Given the description of an element on the screen output the (x, y) to click on. 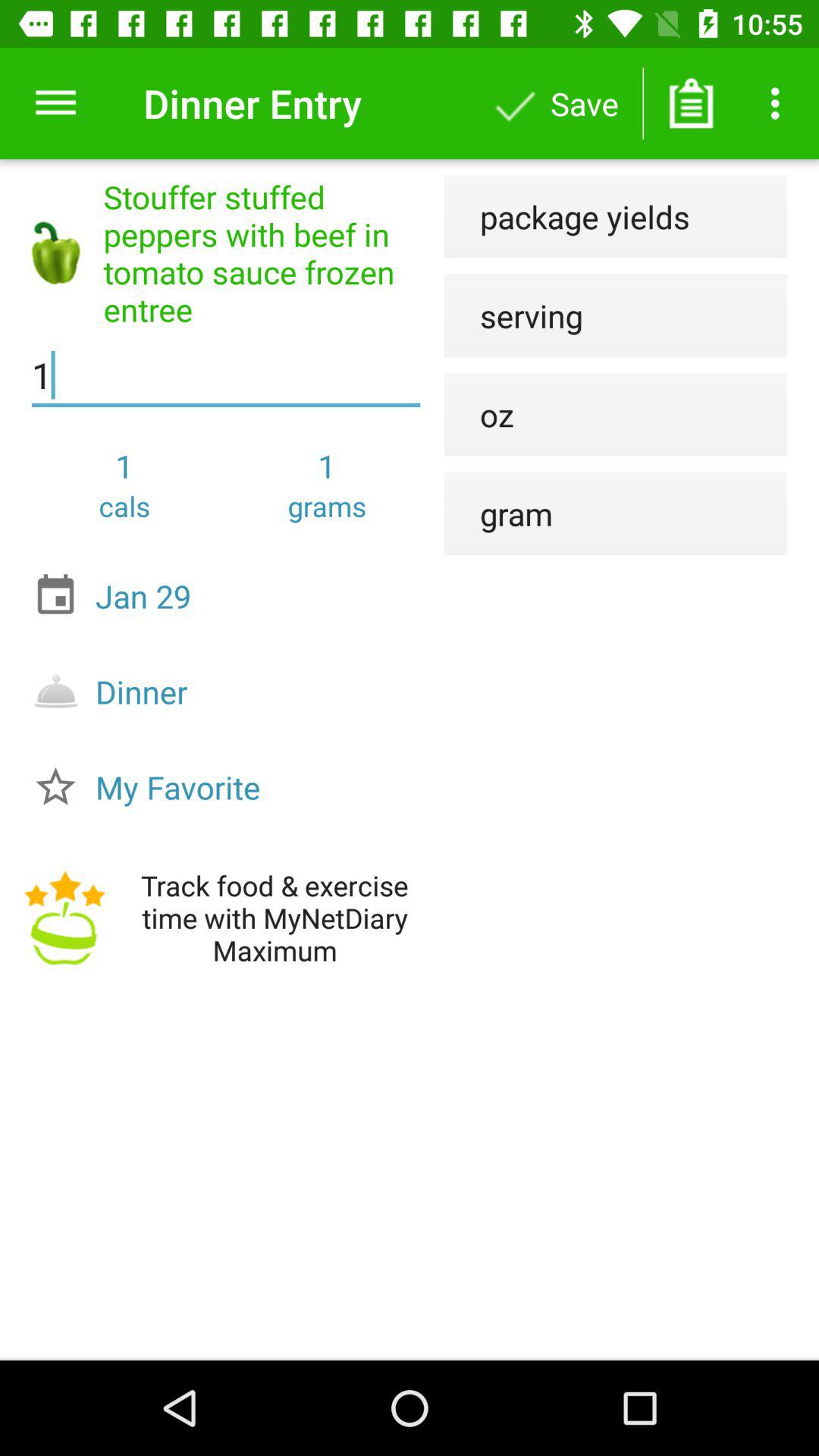
open the item above   package yields (691, 103)
